Given the description of an element on the screen output the (x, y) to click on. 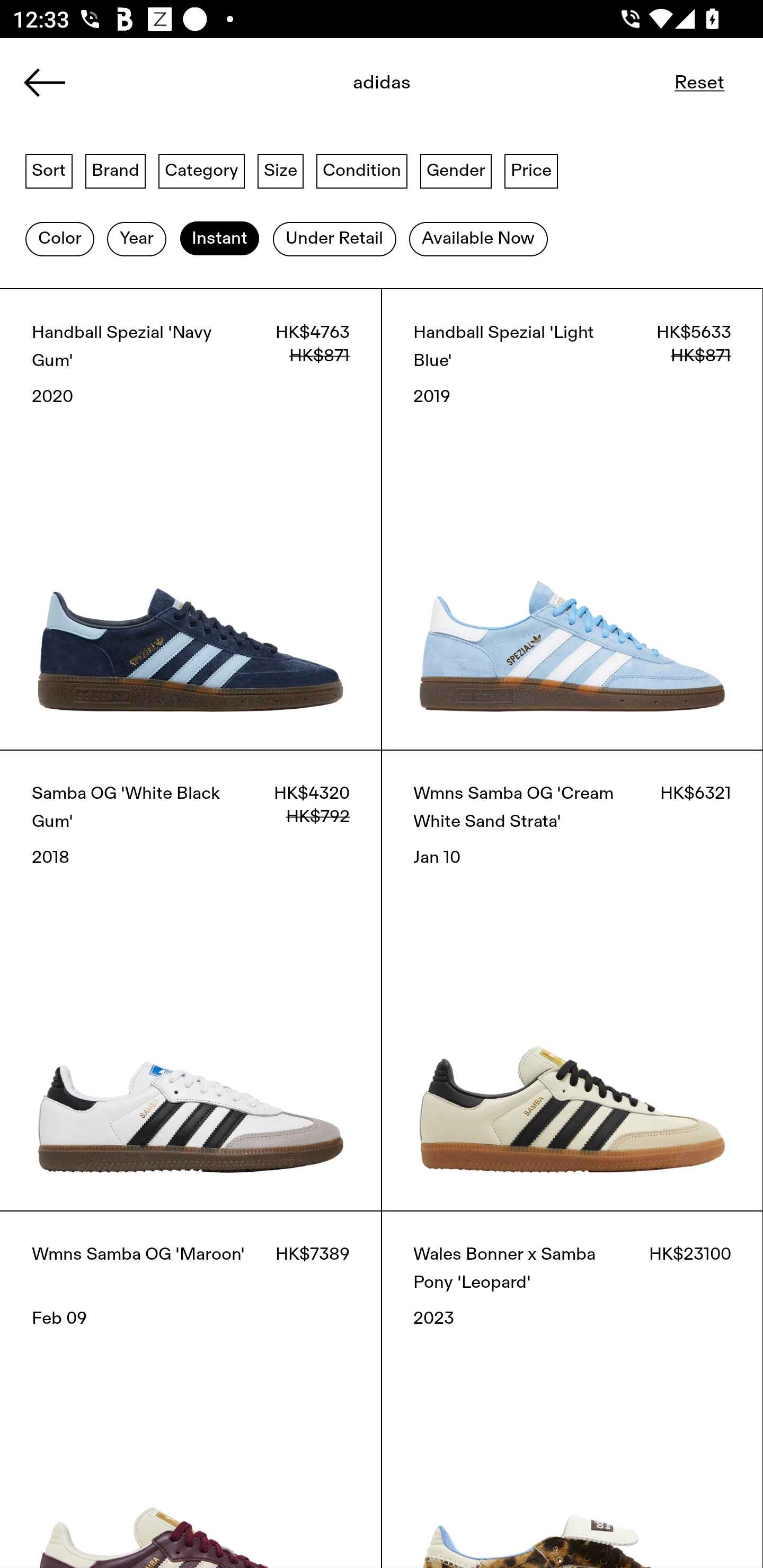
Reset (699, 82)
flats (381, 88)
Sort (48, 170)
Brand (115, 170)
Category (201, 170)
Size (280, 170)
Condition (361, 170)
Gender (455, 170)
Price (530, 170)
Color (59, 239)
Year (136, 239)
Instant (219, 239)
Under Retail (334, 239)
Available Now (477, 239)
Handball Spezial 'Navy Gum' HK$4763 HK$871 2020 (190, 518)
Handball Spezial 'Light Blue' HK$5633 HK$871 2019 (572, 518)
Samba OG 'White Black Gum' HK$4320 HK$792 2018 (190, 979)
Wmns Samba OG 'Maroon' HK$7389 Feb 09 (190, 1389)
Wales Bonner x Samba Pony 'Leopard' HK$23100 2023 (572, 1389)
